Given the description of an element on the screen output the (x, y) to click on. 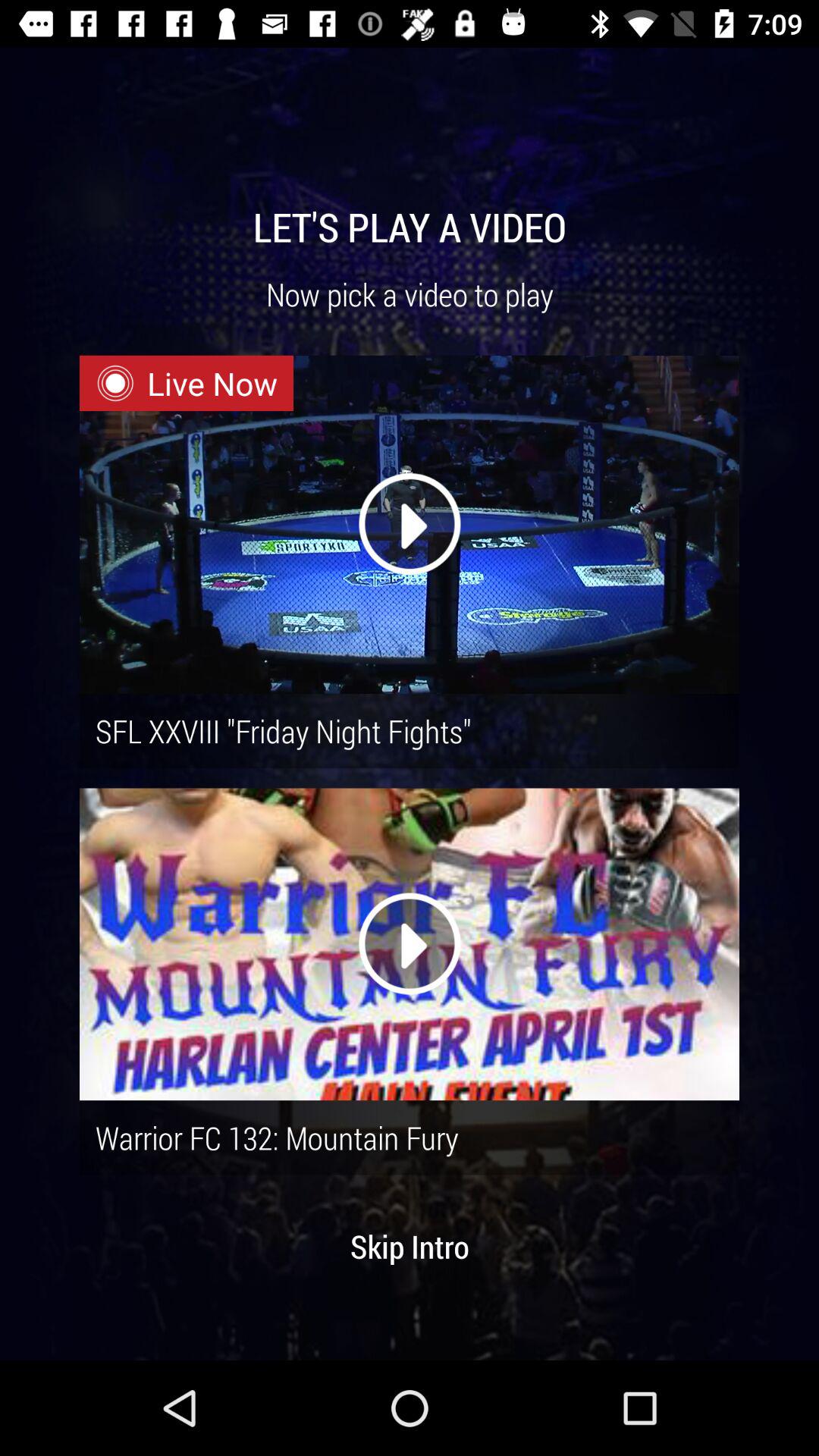
turn on the icon below the warrior fc 132 item (409, 1246)
